Given the description of an element on the screen output the (x, y) to click on. 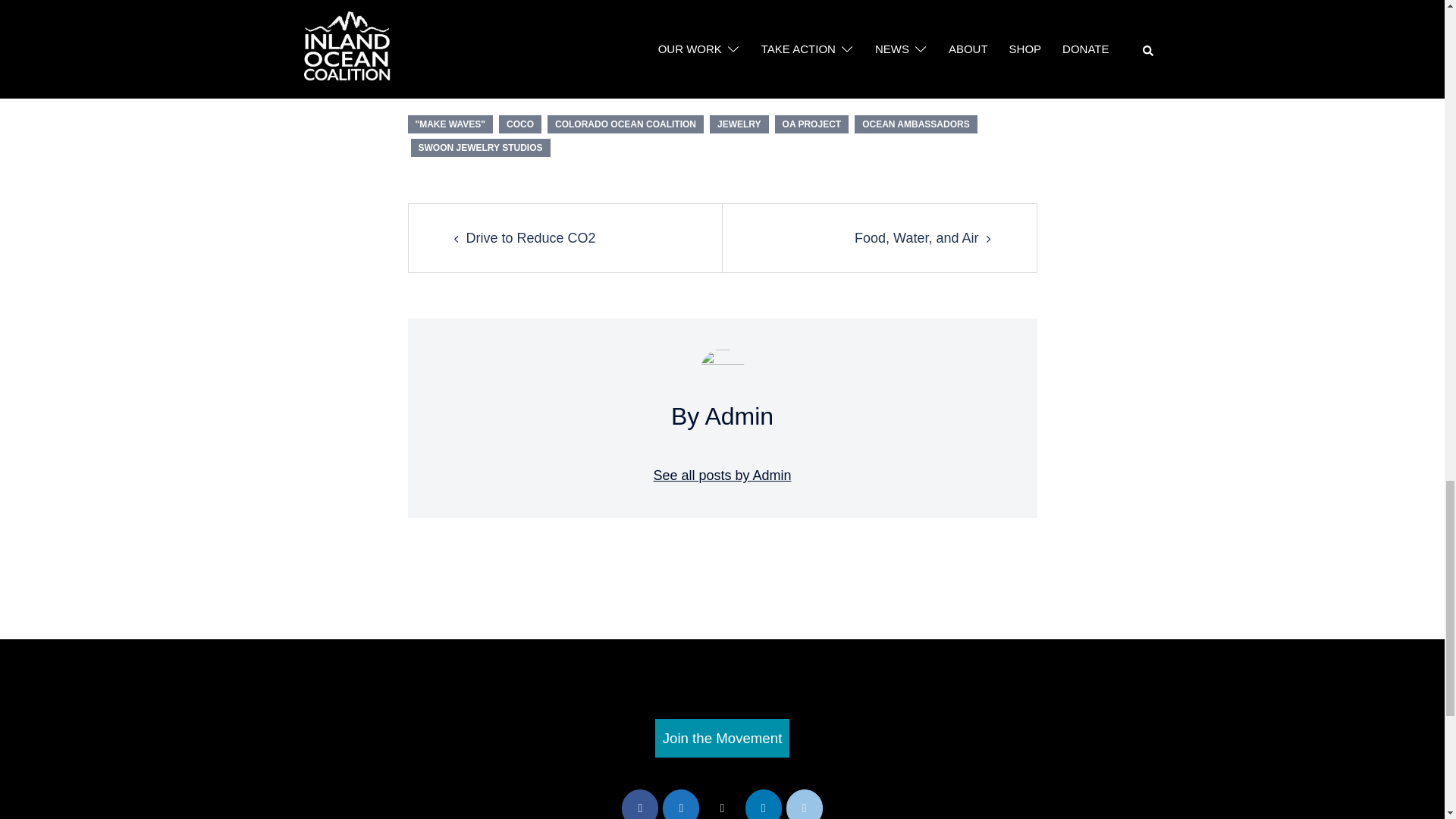
Inland Ocean Coalition on X Twitter (721, 804)
Inland Ocean Coalition on Facebook (639, 804)
Inland Ocean Coalition on Instagram (680, 804)
Inland Ocean Coalition on Envelope (804, 804)
Inland Ocean Coalition on Linkedin (763, 804)
